Given the description of an element on the screen output the (x, y) to click on. 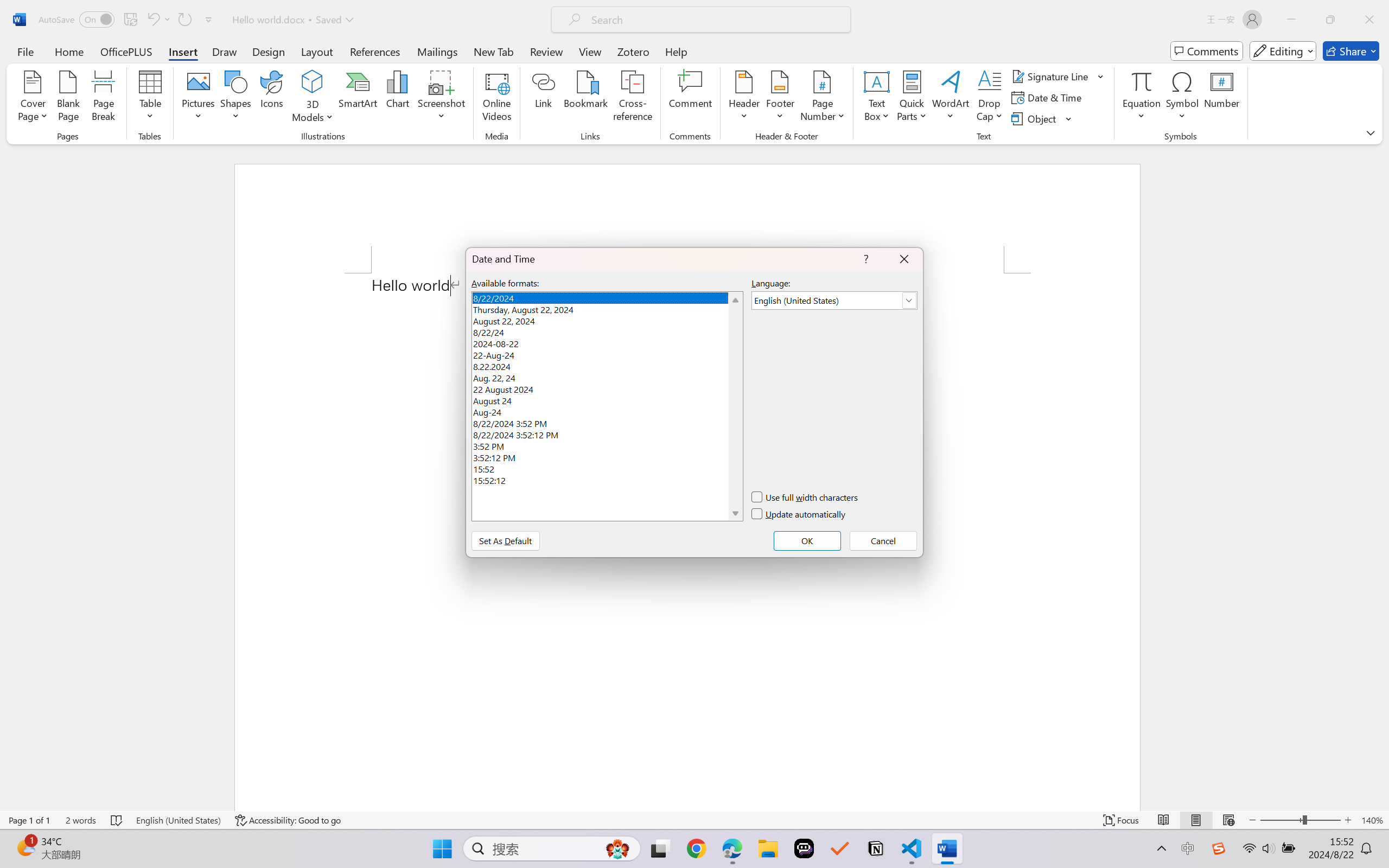
Home (69, 51)
2024-08-22 (606, 342)
Share (1350, 51)
8/22/2024 (606, 296)
15:52 (606, 467)
Minimize (1291, 19)
Pictures (198, 97)
Thursday, August 22, 2024 (606, 308)
Zoom (1300, 819)
Header (743, 97)
Object... (1042, 118)
Aug. 22, 24 (606, 376)
